Given the description of an element on the screen output the (x, y) to click on. 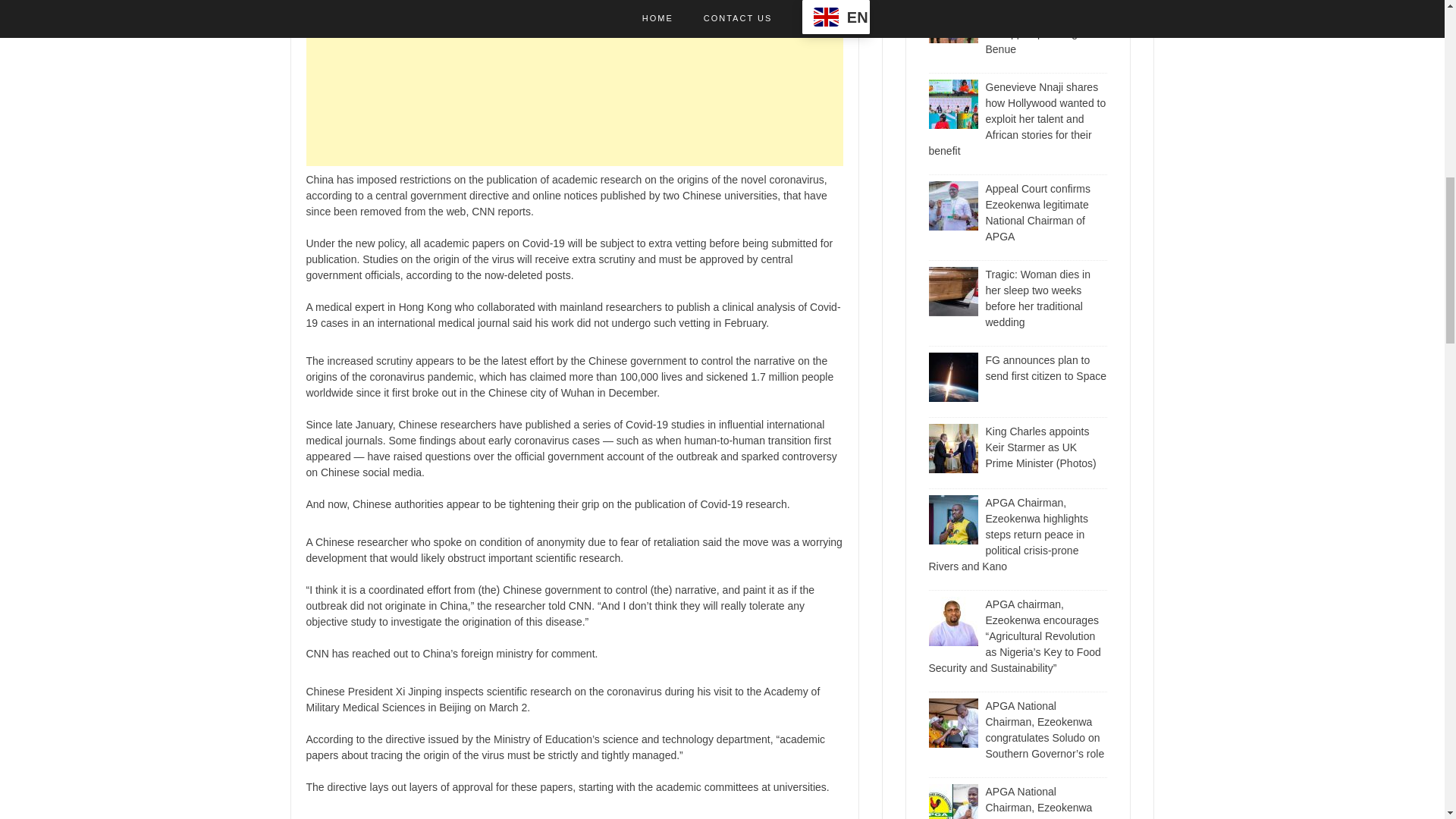
Advertisement (574, 83)
